Given the description of an element on the screen output the (x, y) to click on. 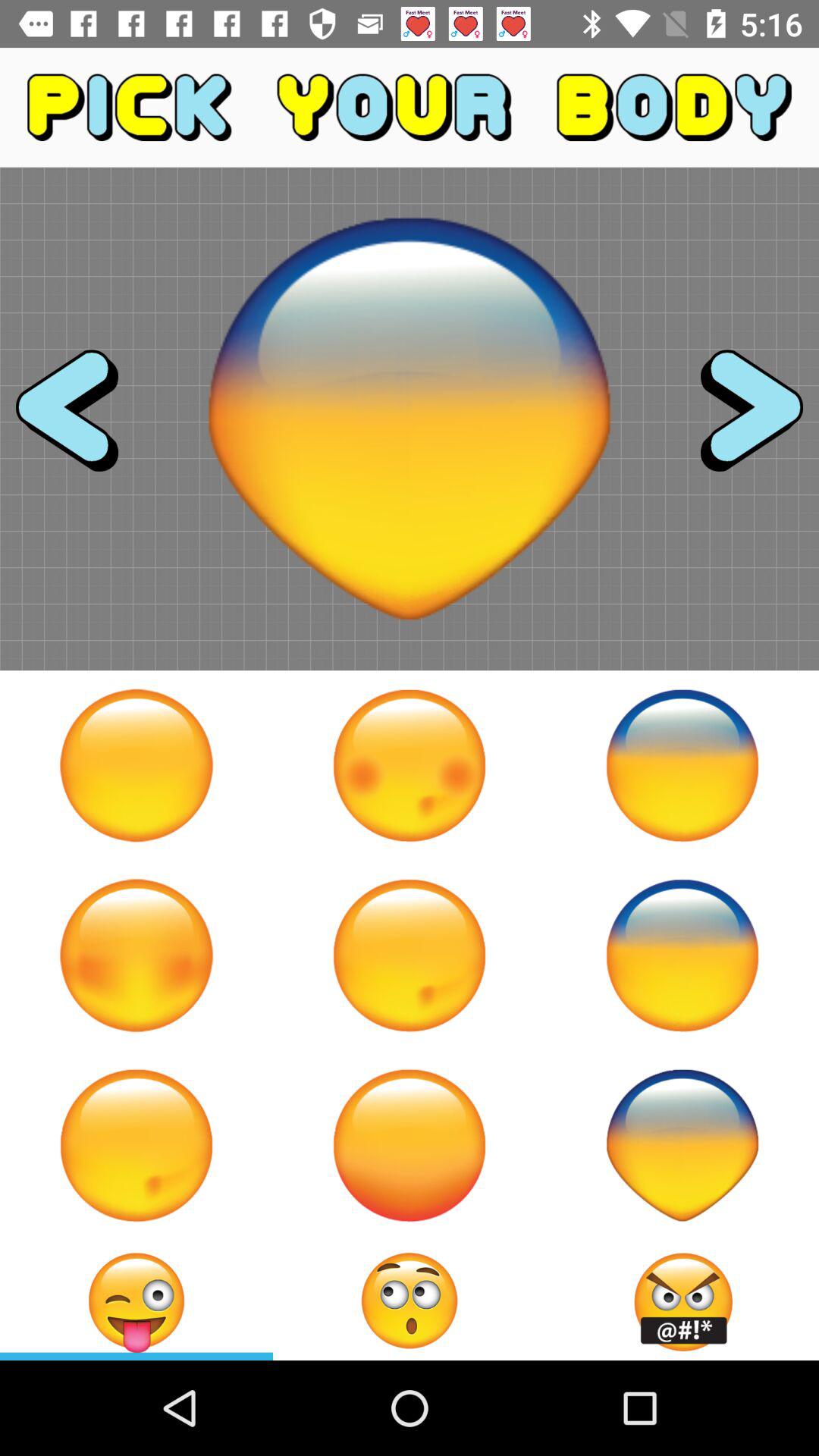
circular face shape (136, 765)
